Given the description of an element on the screen output the (x, y) to click on. 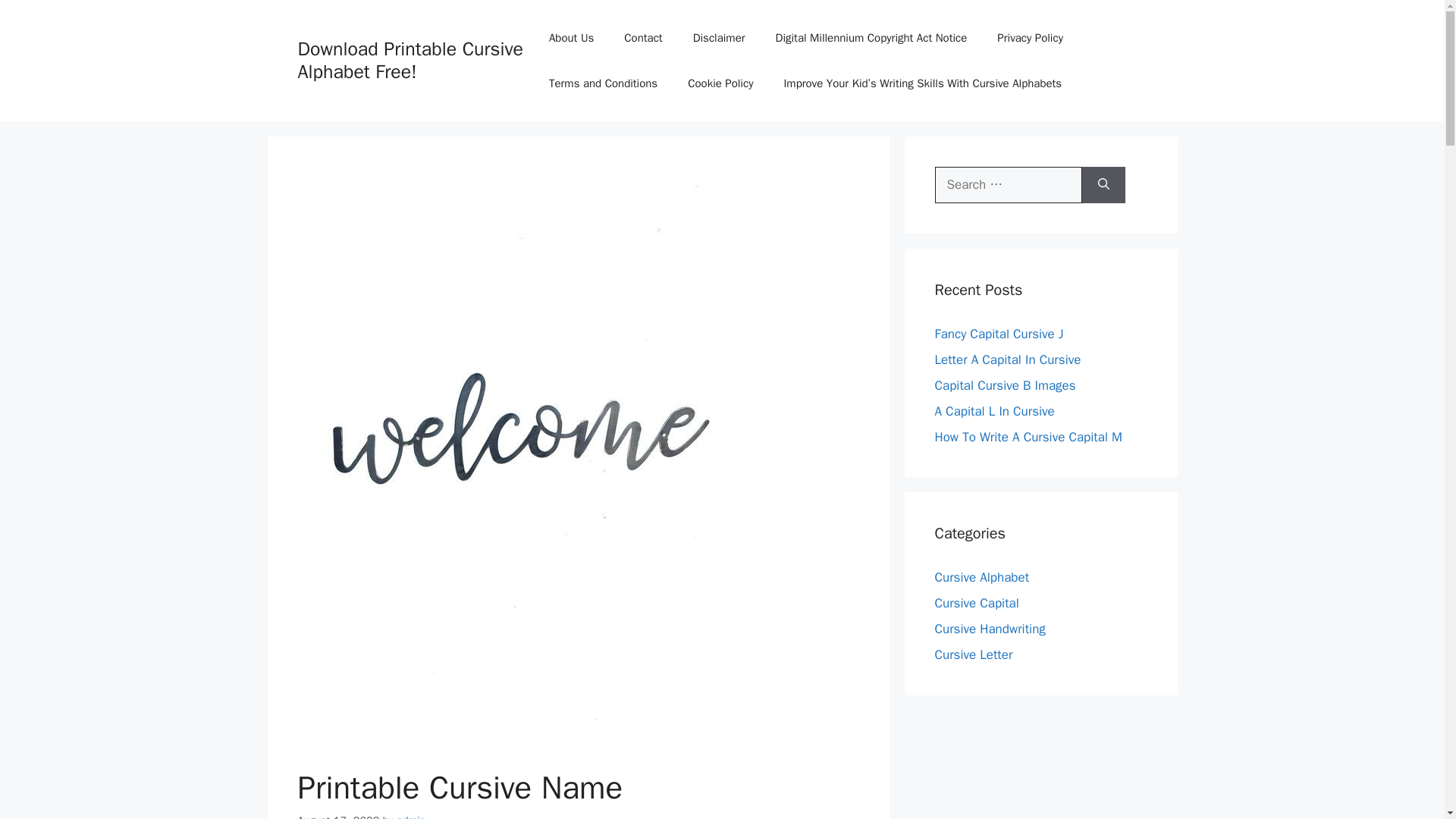
Cursive Capital (975, 602)
admin (411, 816)
Letter A Capital In Cursive (1007, 359)
Cursive Handwriting (989, 628)
Cursive Letter (972, 654)
Capital Cursive B Images (1004, 385)
Search for: (1007, 185)
View all posts by admin (411, 816)
Privacy Policy (1029, 37)
A Capital L In Cursive (994, 411)
How To Write A Cursive Capital M (1028, 437)
Disclaimer (719, 37)
Terms and Conditions (603, 83)
About Us (571, 37)
Cookie Policy (720, 83)
